Given the description of an element on the screen output the (x, y) to click on. 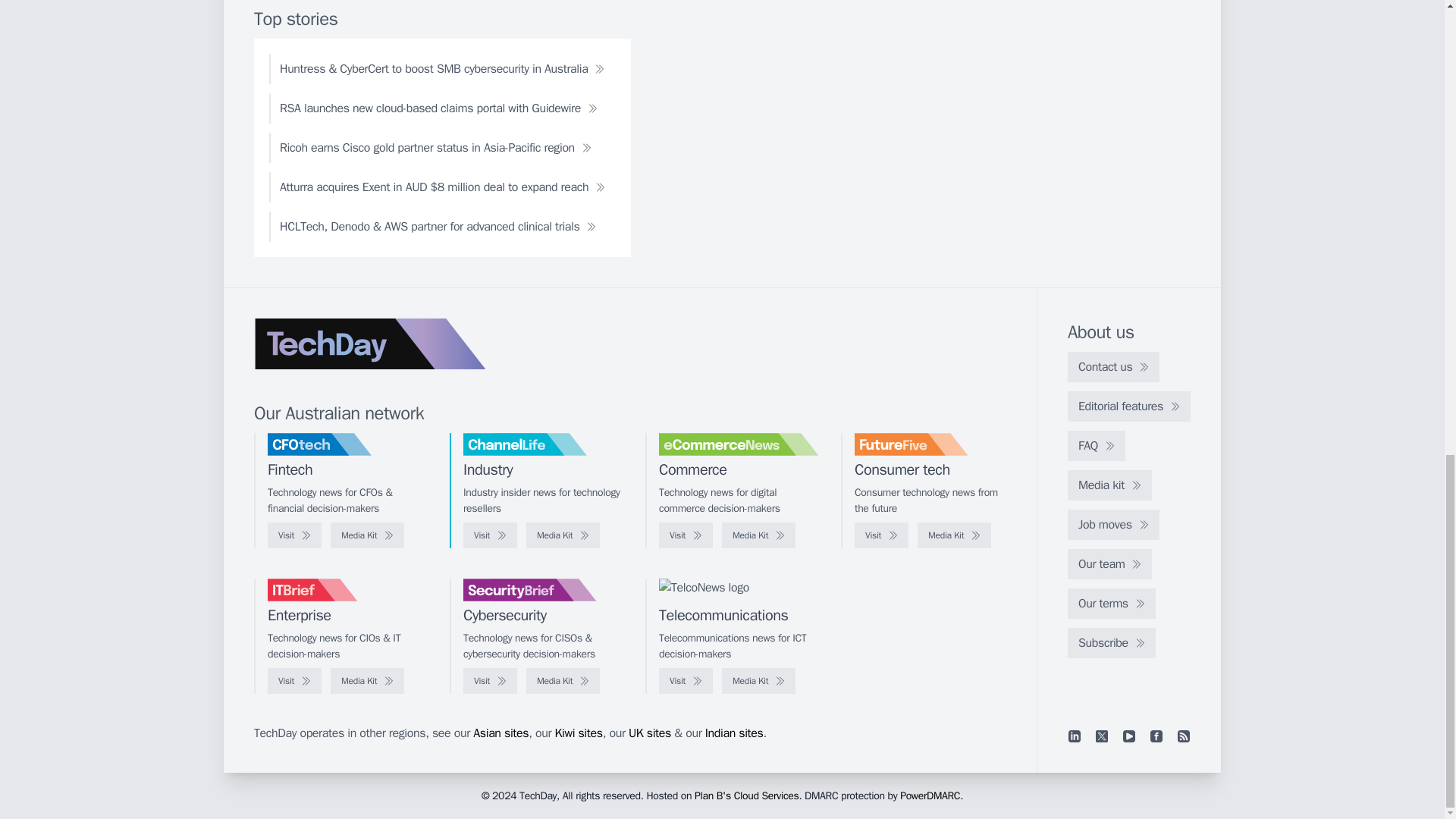
Ricoh earns Cisco gold partner status in Asia-Pacific region (435, 147)
Visit (489, 534)
Visit (294, 534)
RSA launches new cloud-based claims portal with Guidewire (438, 108)
Visit (686, 534)
Media Kit (562, 534)
Media Kit (367, 534)
Media Kit (954, 534)
Media Kit (758, 534)
Visit (881, 534)
